Given the description of an element on the screen output the (x, y) to click on. 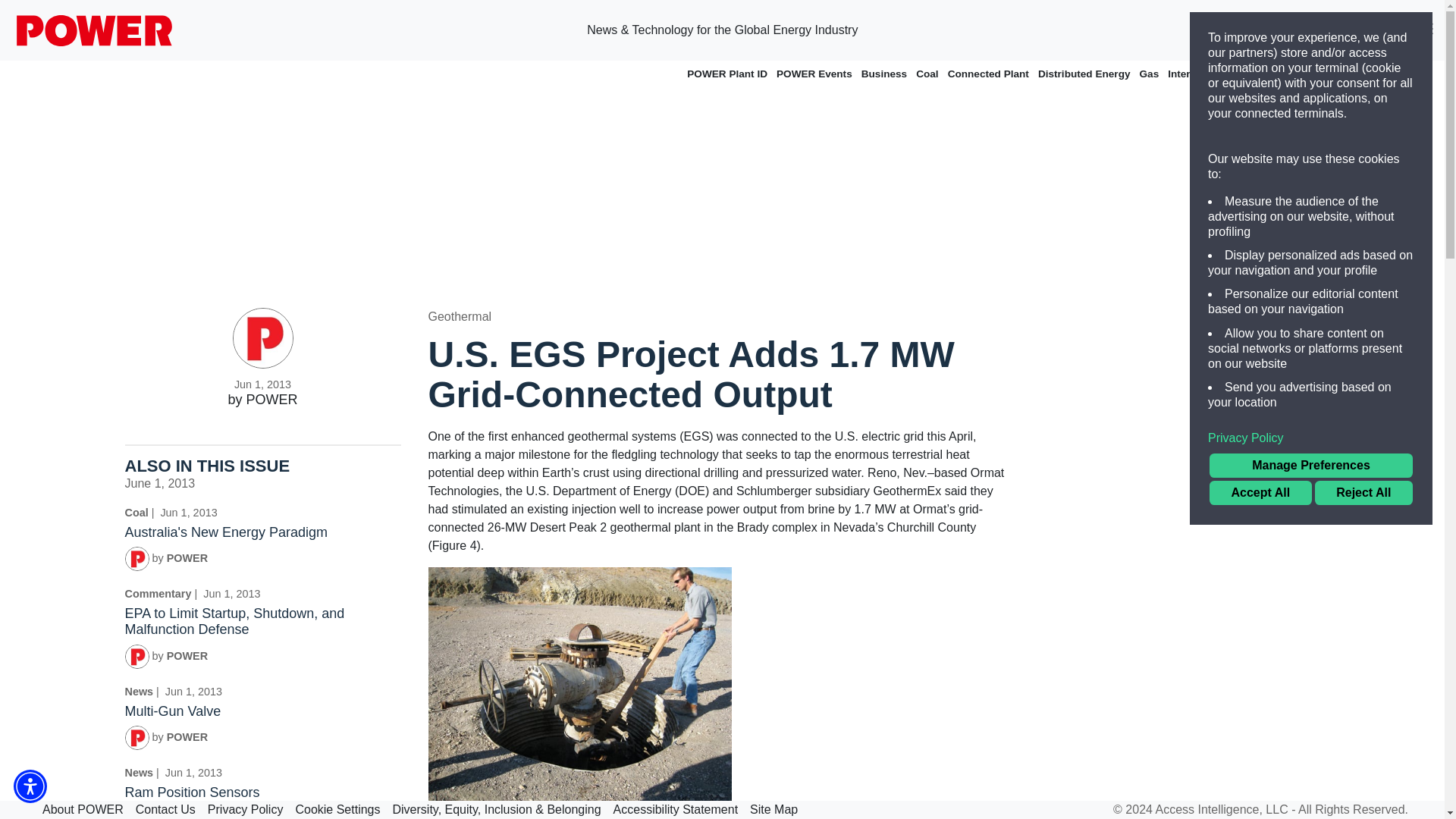
Privacy Policy (1310, 437)
Manage Preferences (1310, 465)
Log In (1379, 30)
Reject All (1363, 492)
Accessibility Menu (29, 786)
Open Navigation (1425, 30)
3rd party ad content (1181, 402)
Accept All (1260, 492)
Sign up (1303, 30)
